Given the description of an element on the screen output the (x, y) to click on. 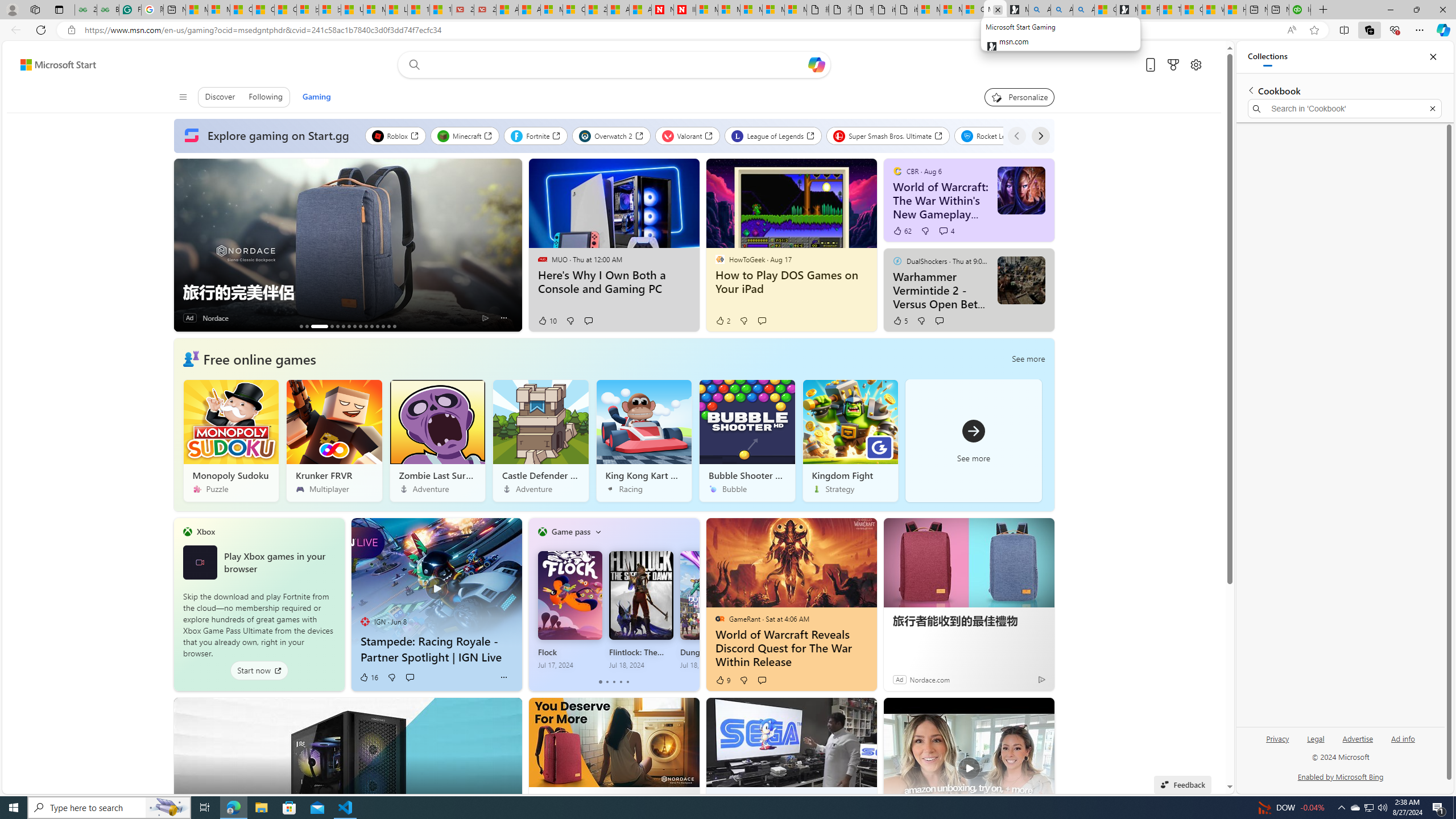
tab-4 (627, 682)
Cloud Computing Services | Microsoft Azure (573, 9)
CNN - MSN (1191, 9)
Here's Why I Own Both a Console and Gaming PC (613, 281)
Class: control icon-only (182, 97)
View comments 4 Comment (946, 230)
How to Play DOS Games on Your iPad (790, 281)
